Given the description of an element on the screen output the (x, y) to click on. 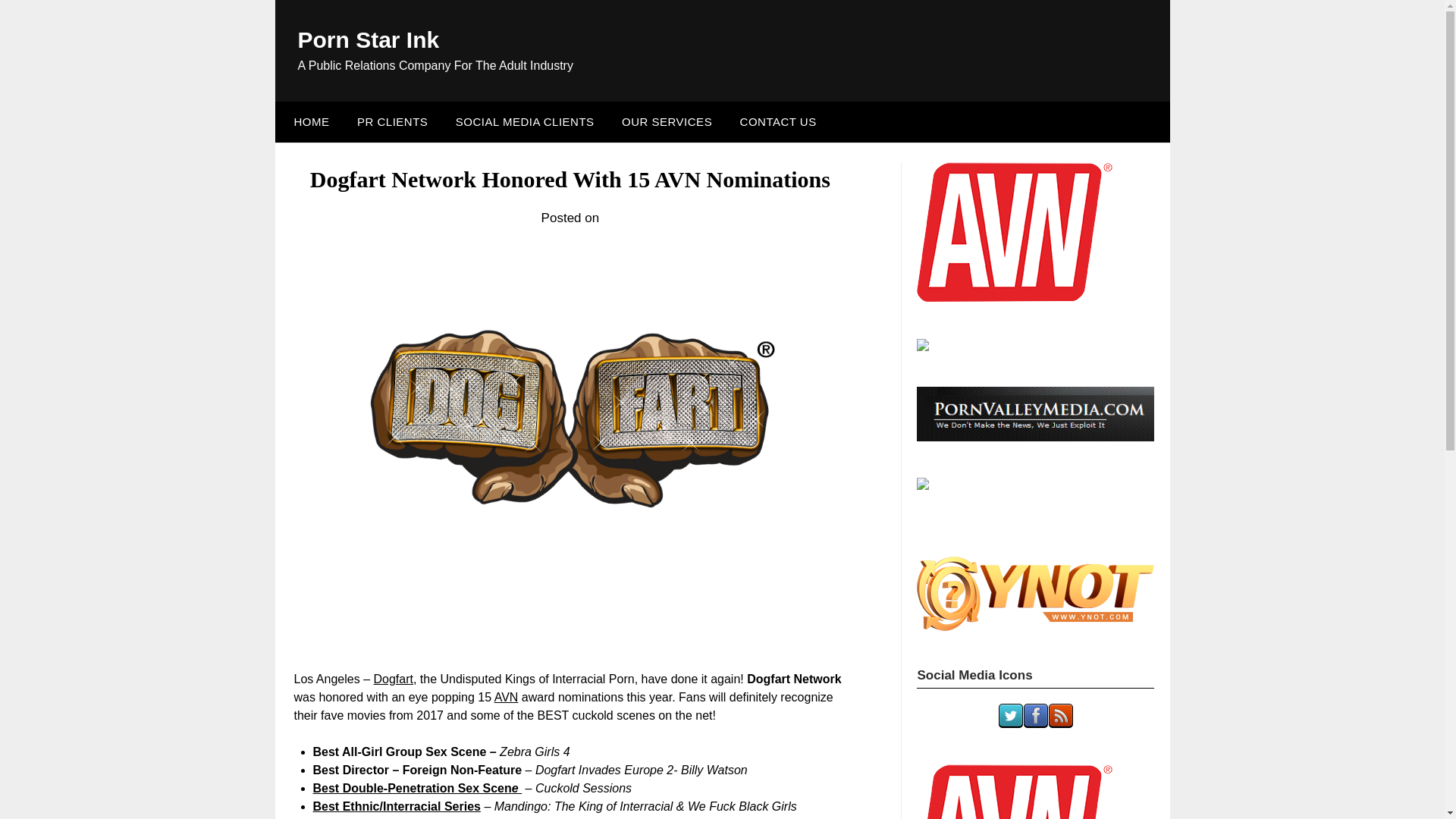
Check Our Feed (1060, 723)
PR CLIENTS (392, 121)
Porn Star Ink (368, 39)
Visit Us On Facebook (1035, 723)
Visit Us On Twitter (1010, 723)
AVN (506, 697)
HOME (307, 121)
OUR SERVICES (666, 121)
Dogfart (392, 678)
SOCIAL MEDIA CLIENTS (525, 121)
